Given the description of an element on the screen output the (x, y) to click on. 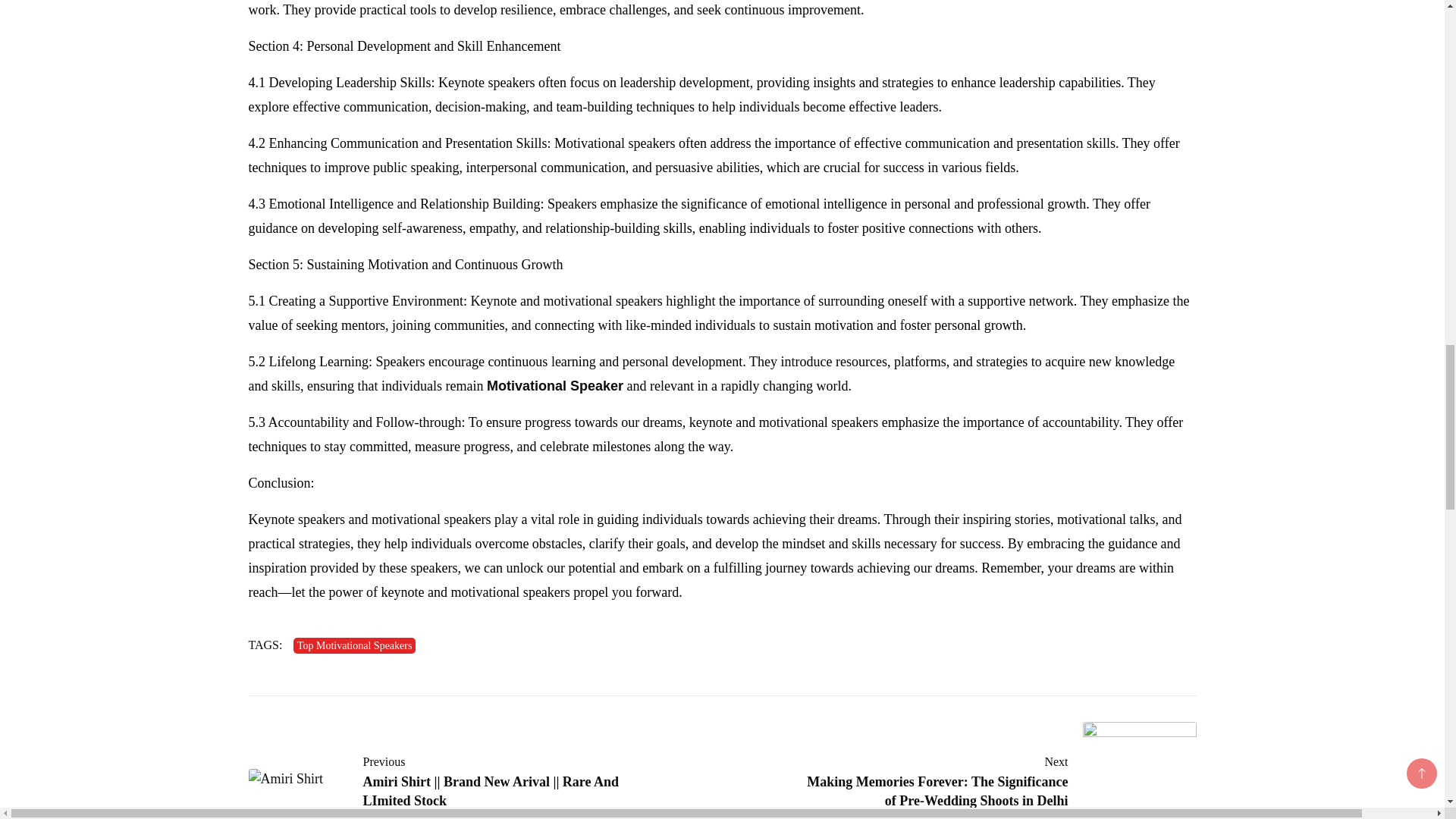
Top Motivational Speakers (354, 645)
Motivational Speaker (554, 385)
you (621, 591)
